Given the description of an element on the screen output the (x, y) to click on. 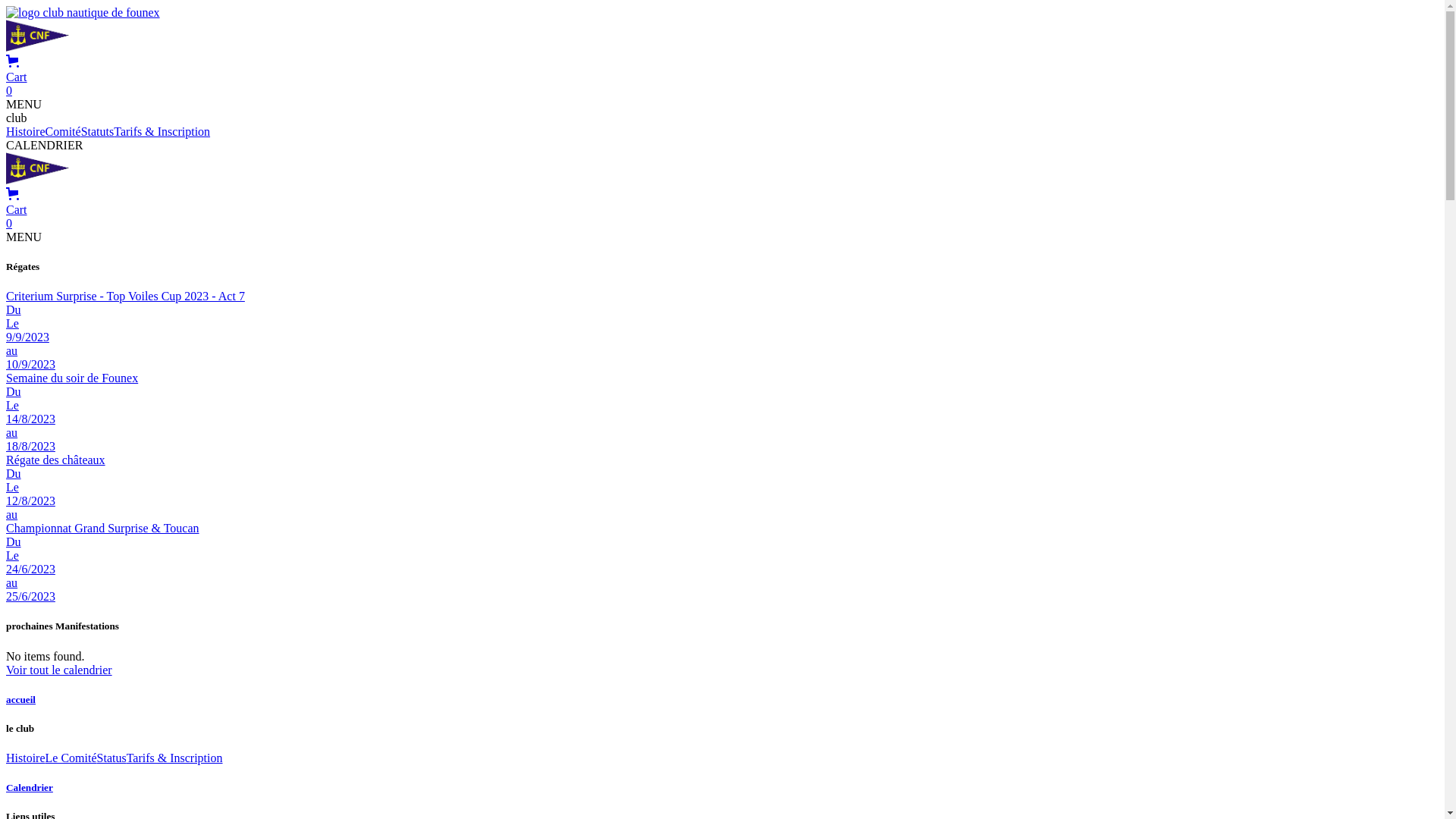
Statuts Element type: text (97, 131)
Tarifs & Inscription Element type: text (161, 131)
Cart
0 Element type: text (722, 209)
Histoire Element type: text (25, 131)
Histoire Element type: text (25, 757)
Semaine du soir de Founex
Du
Le
14/8/2023
au
18/8/2023 Element type: text (722, 412)
Status Element type: text (111, 757)
accueil Element type: text (722, 699)
Calendrier Element type: text (722, 787)
Voir tout le calendrier Element type: text (59, 669)
Cart
0 Element type: text (722, 76)
Tarifs & Inscription Element type: text (174, 757)
